Given the description of an element on the screen output the (x, y) to click on. 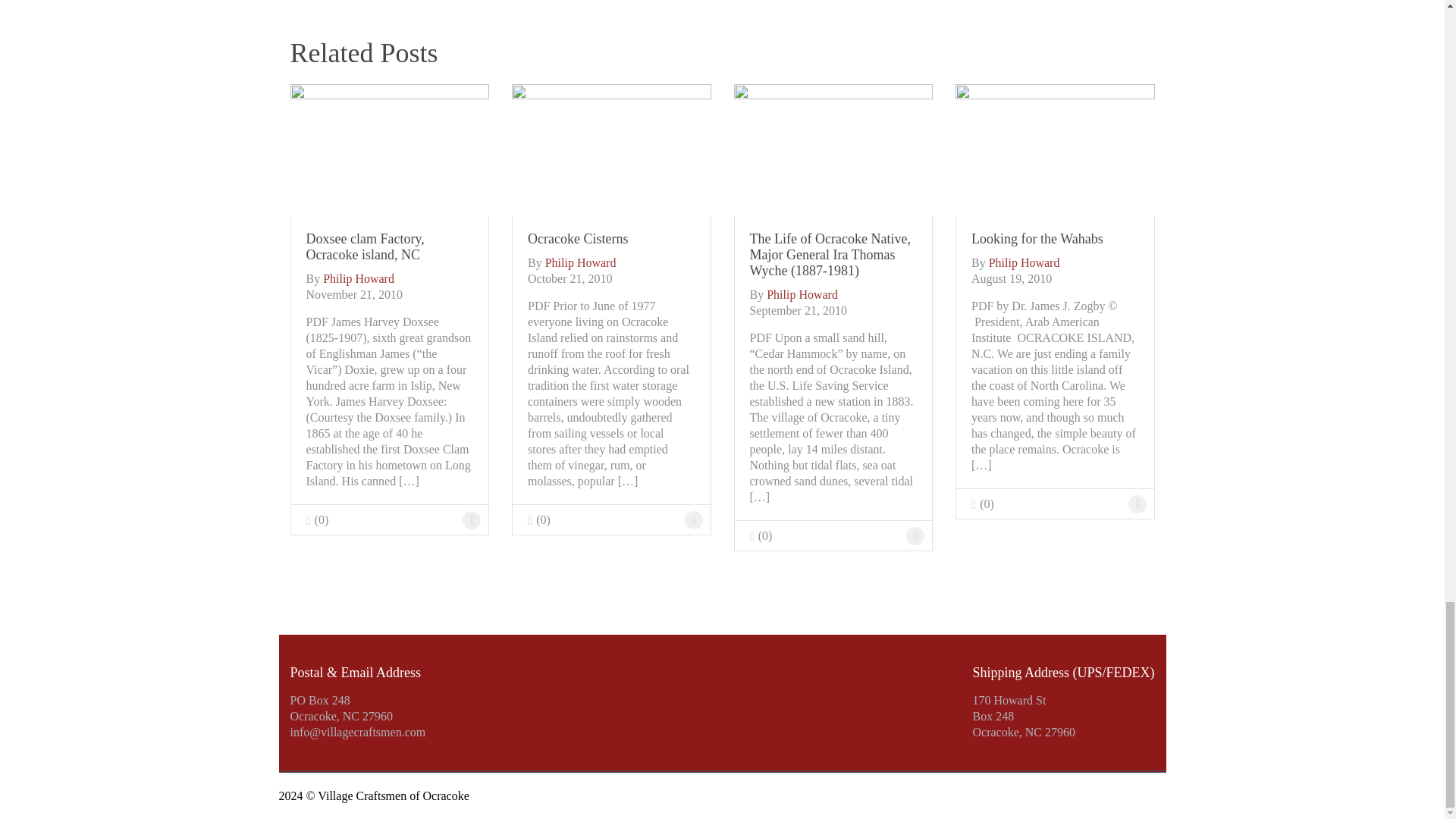
Doxsee clam Factory, Ocracoke island, NC (390, 246)
Click to learn more (611, 147)
Philip Howard (1023, 262)
Looking for the Wahabs (1055, 238)
Click to learn more (390, 246)
Philip Howard (579, 262)
Philip Howard (802, 294)
Philip Howard (358, 278)
Click to learn more (389, 147)
Click to learn more (471, 520)
Click to learn more (692, 520)
Click to learn more (611, 238)
Ocracoke Cisterns (611, 238)
